Given the description of an element on the screen output the (x, y) to click on. 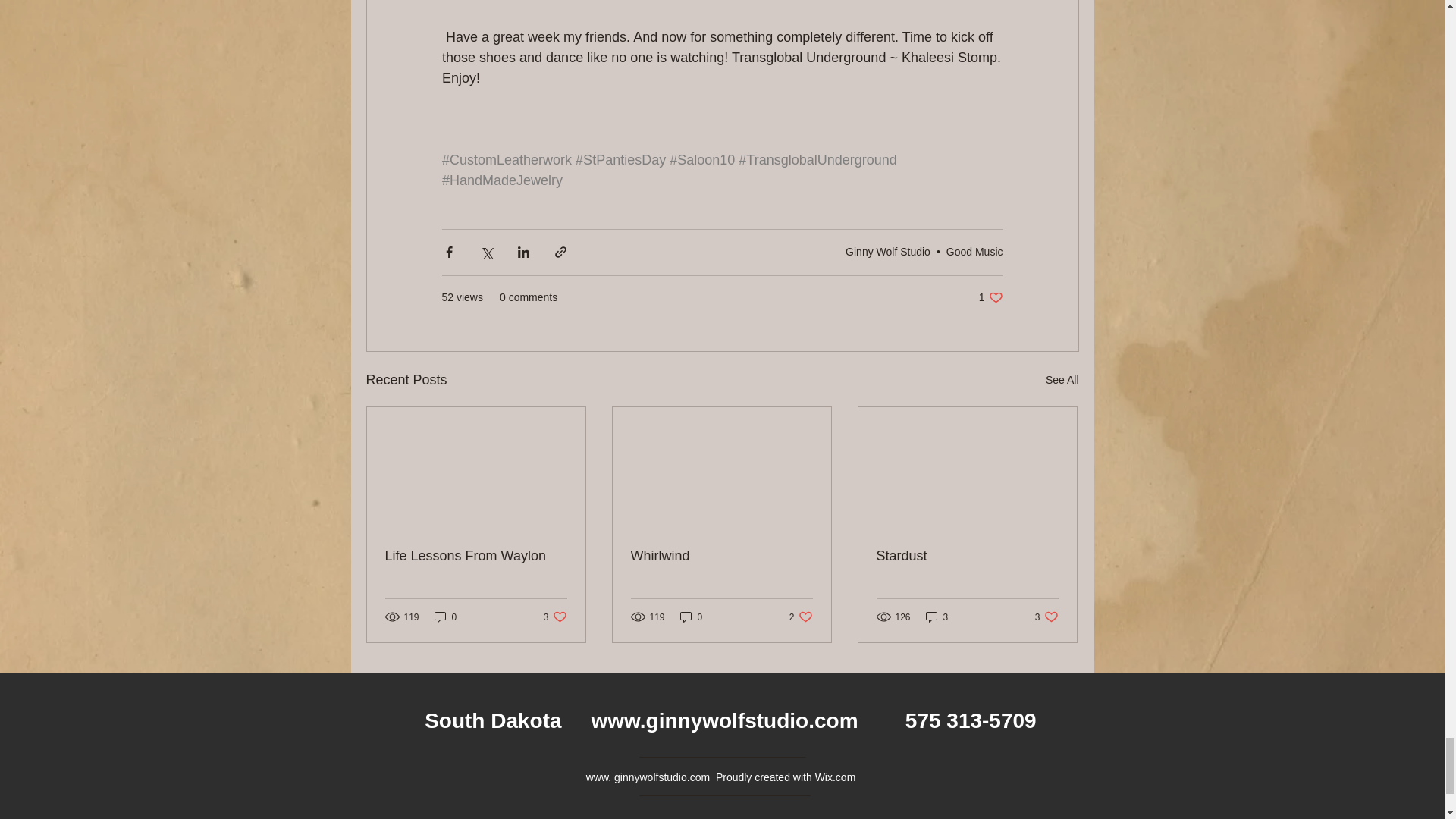
See All (1061, 380)
Good Music (974, 251)
Ginny Wolf Studio (990, 297)
0 (887, 251)
Life Lessons From Waylon (555, 616)
